Given the description of an element on the screen output the (x, y) to click on. 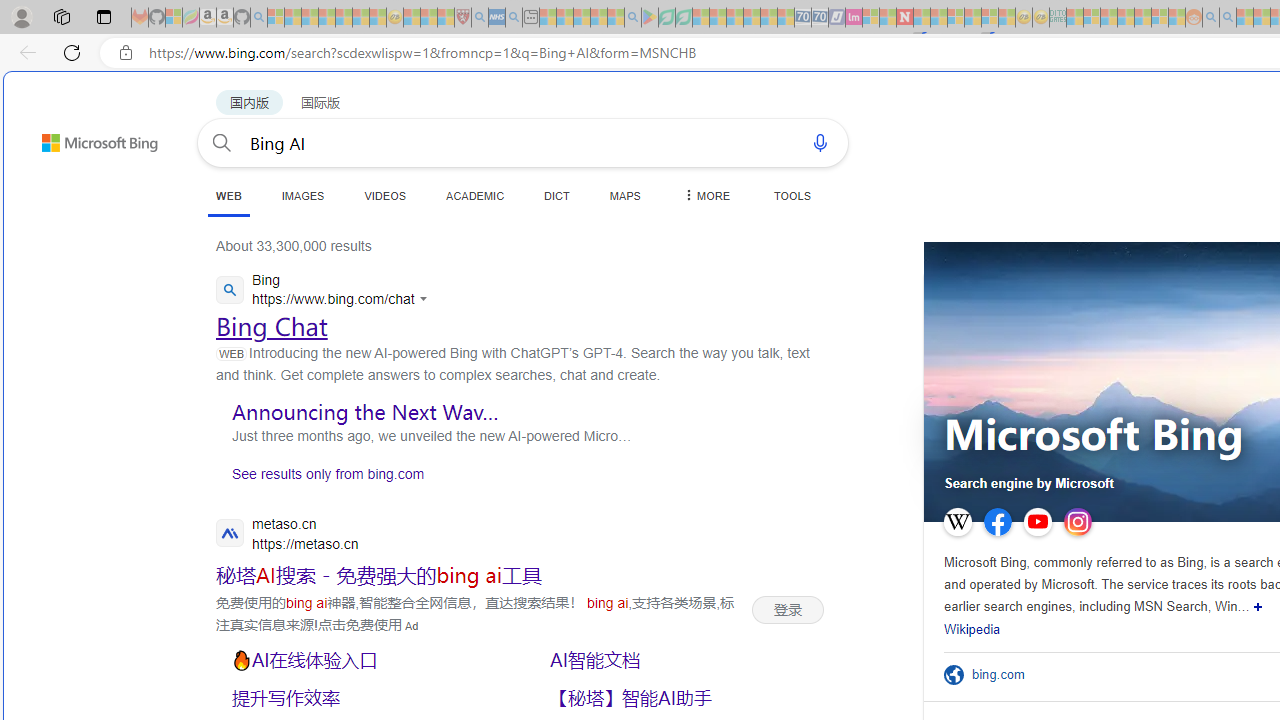
Local - MSN - Sleeping (445, 17)
